Given the description of an element on the screen output the (x, y) to click on. 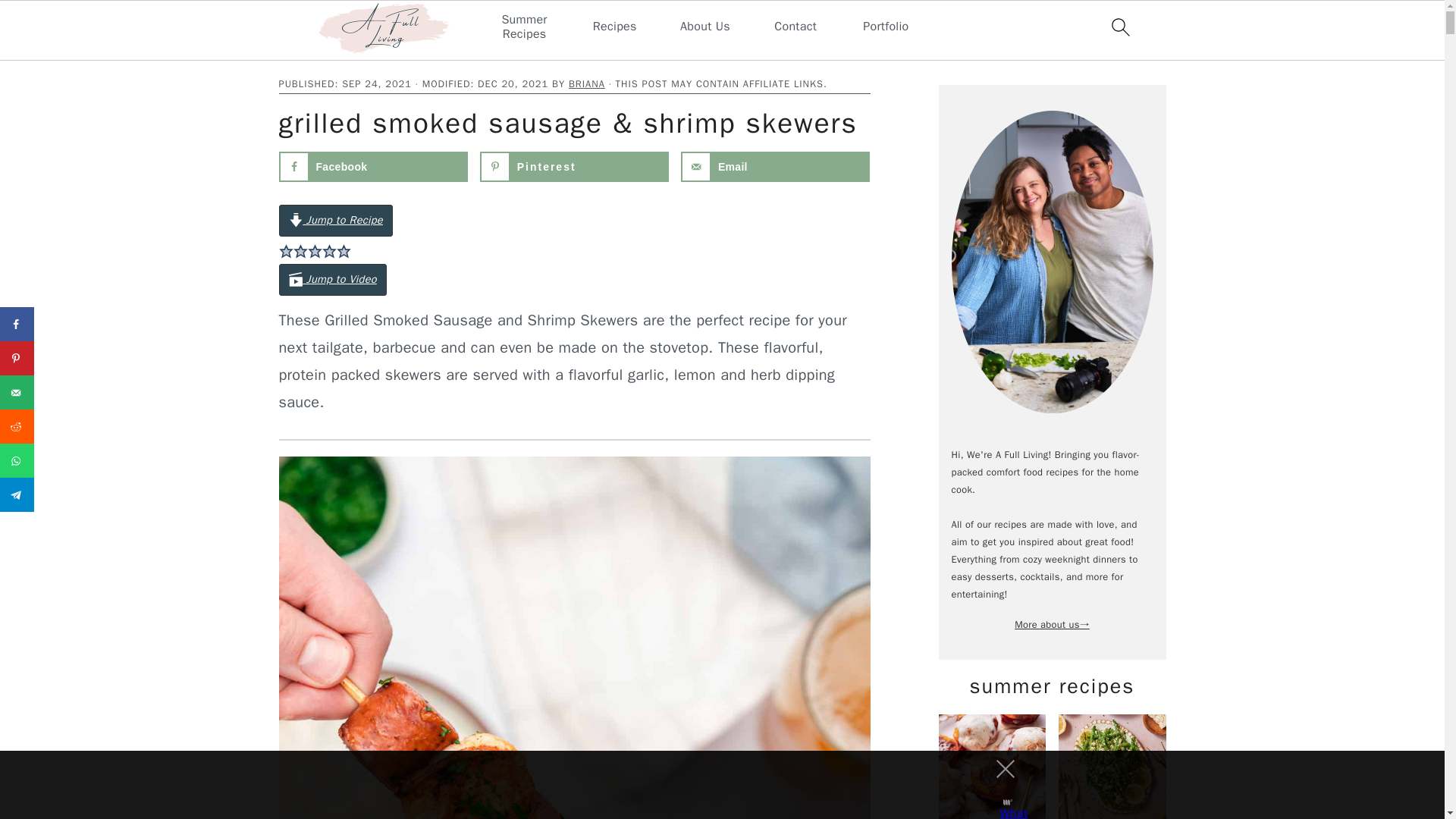
A Full Living (305, 53)
Jump to Recipe (336, 220)
Recipes (359, 53)
BRIANA (587, 83)
Pinterest (574, 166)
Share on Facebook (16, 324)
Email (775, 166)
About Us (704, 26)
Contact (795, 26)
Recipes (614, 26)
search icon (1119, 26)
Send over email (16, 392)
3rd party ad content (708, 785)
Main Courses (417, 53)
